Given the description of an element on the screen output the (x, y) to click on. 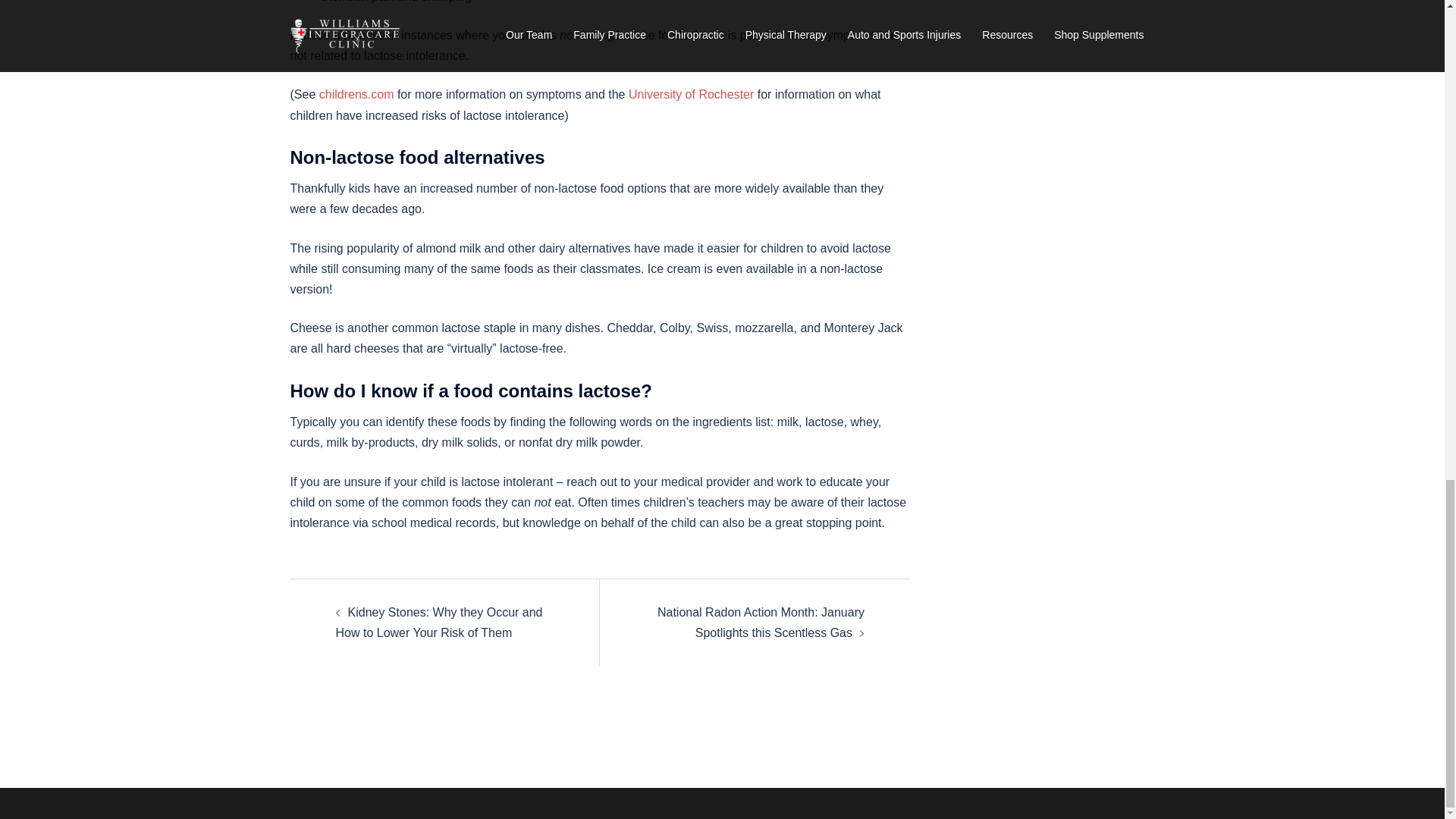
University of Rochester (691, 93)
childrens.com (356, 93)
